Given the description of an element on the screen output the (x, y) to click on. 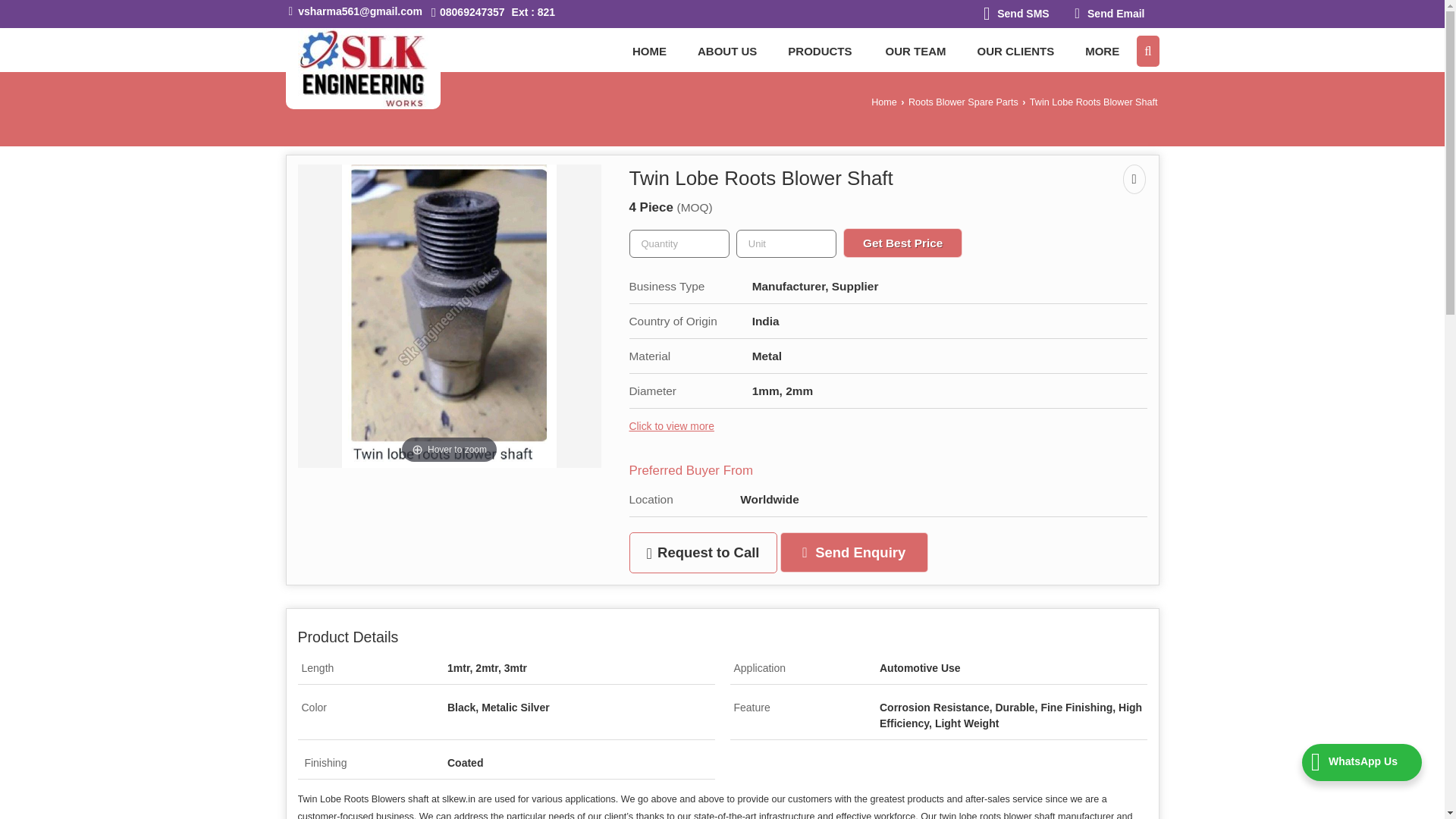
MORE (1103, 51)
Home (649, 51)
ABOUT US (726, 51)
About Us (726, 51)
Send Email (1110, 14)
S.L.K Engineering Works (362, 68)
Search (1147, 51)
Home (883, 102)
OUR CLIENTS (1014, 51)
Send SMS (1016, 14)
HOME (649, 51)
Roots Blower Spare Parts (962, 102)
Products (821, 51)
PRODUCTS (821, 51)
OUR TEAM (914, 51)
